Given the description of an element on the screen output the (x, y) to click on. 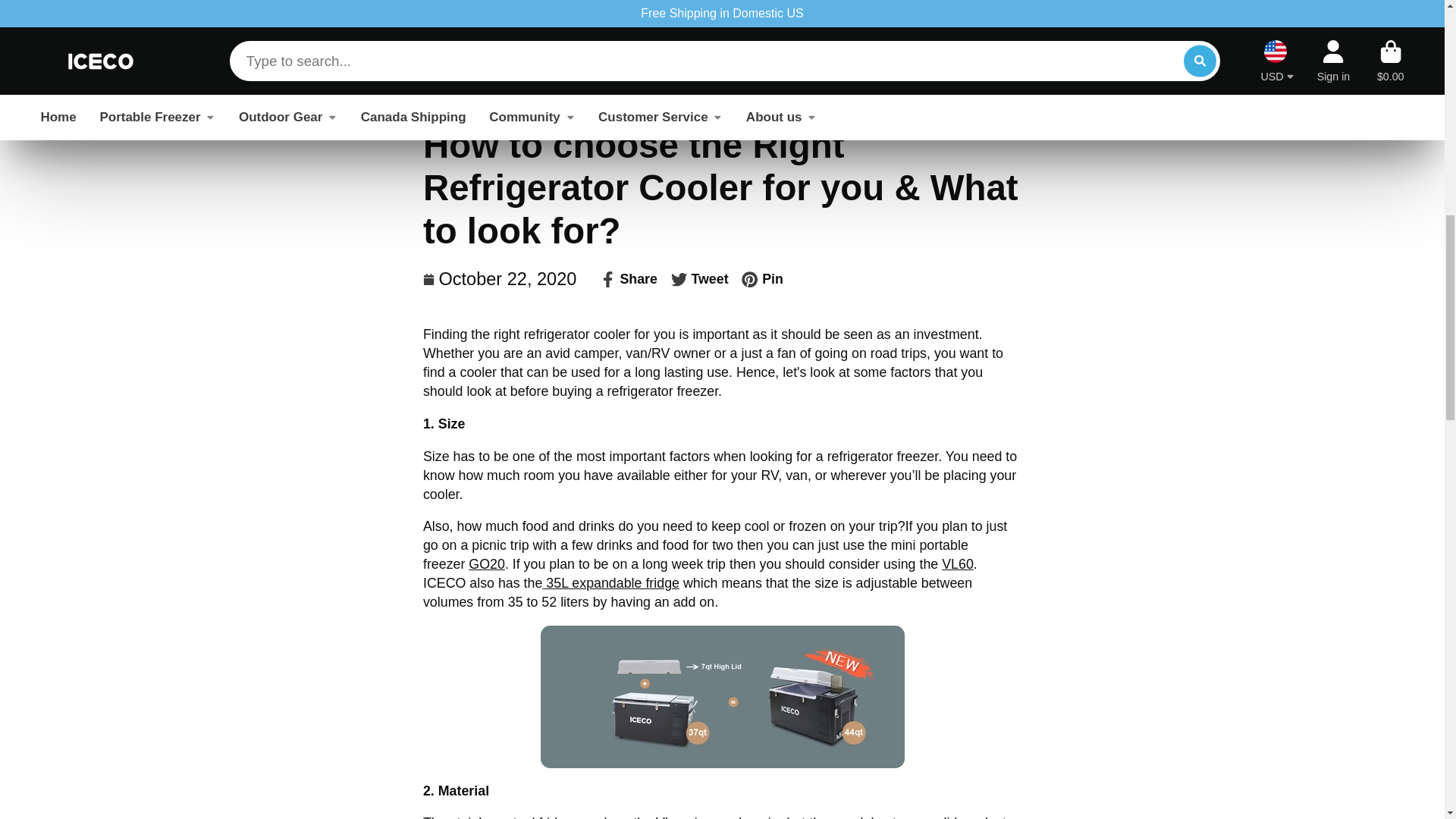
Home (441, 1)
